Given the description of an element on the screen output the (x, y) to click on. 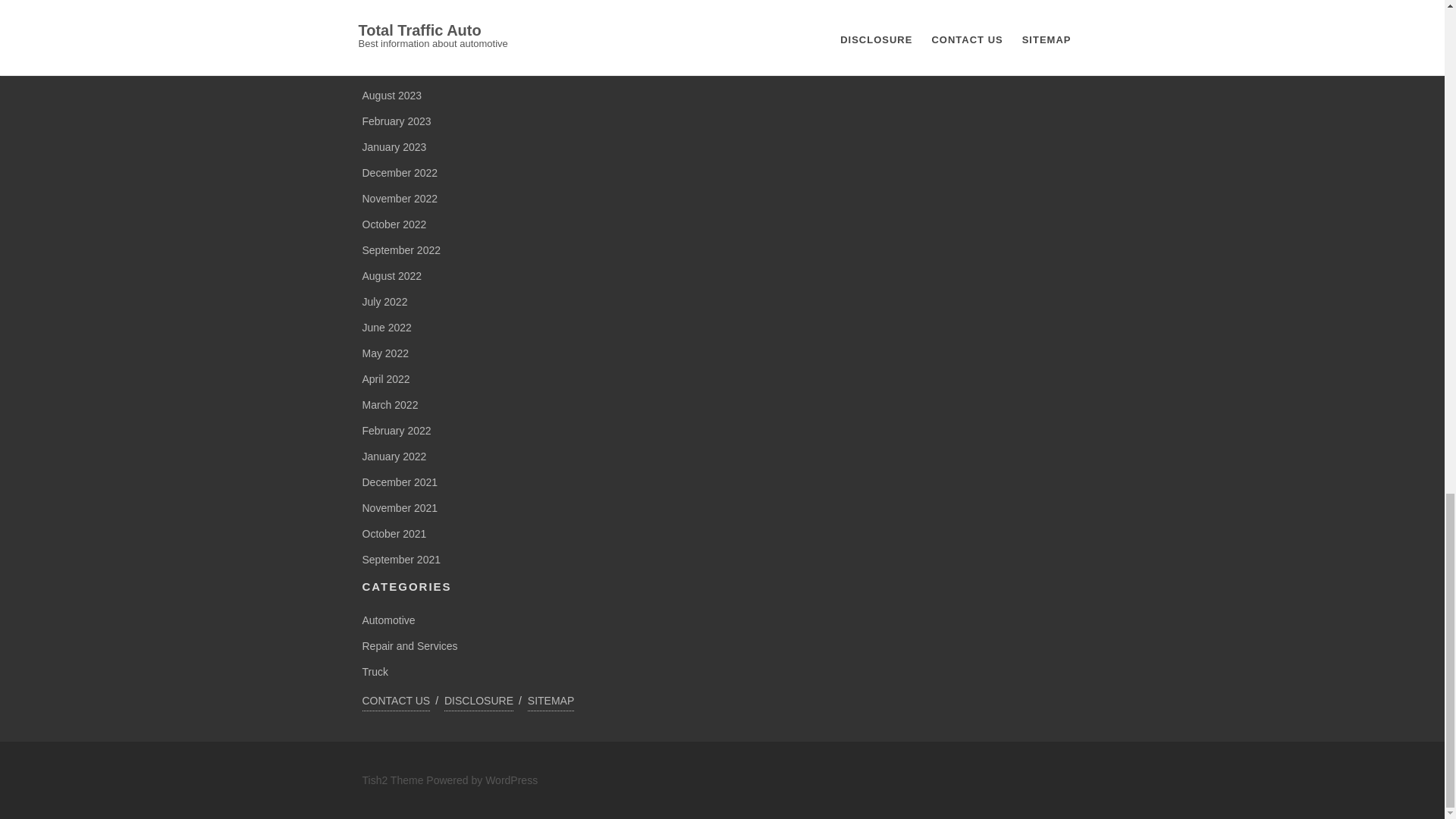
Tish2 Theme (394, 779)
